Given the description of an element on the screen output the (x, y) to click on. 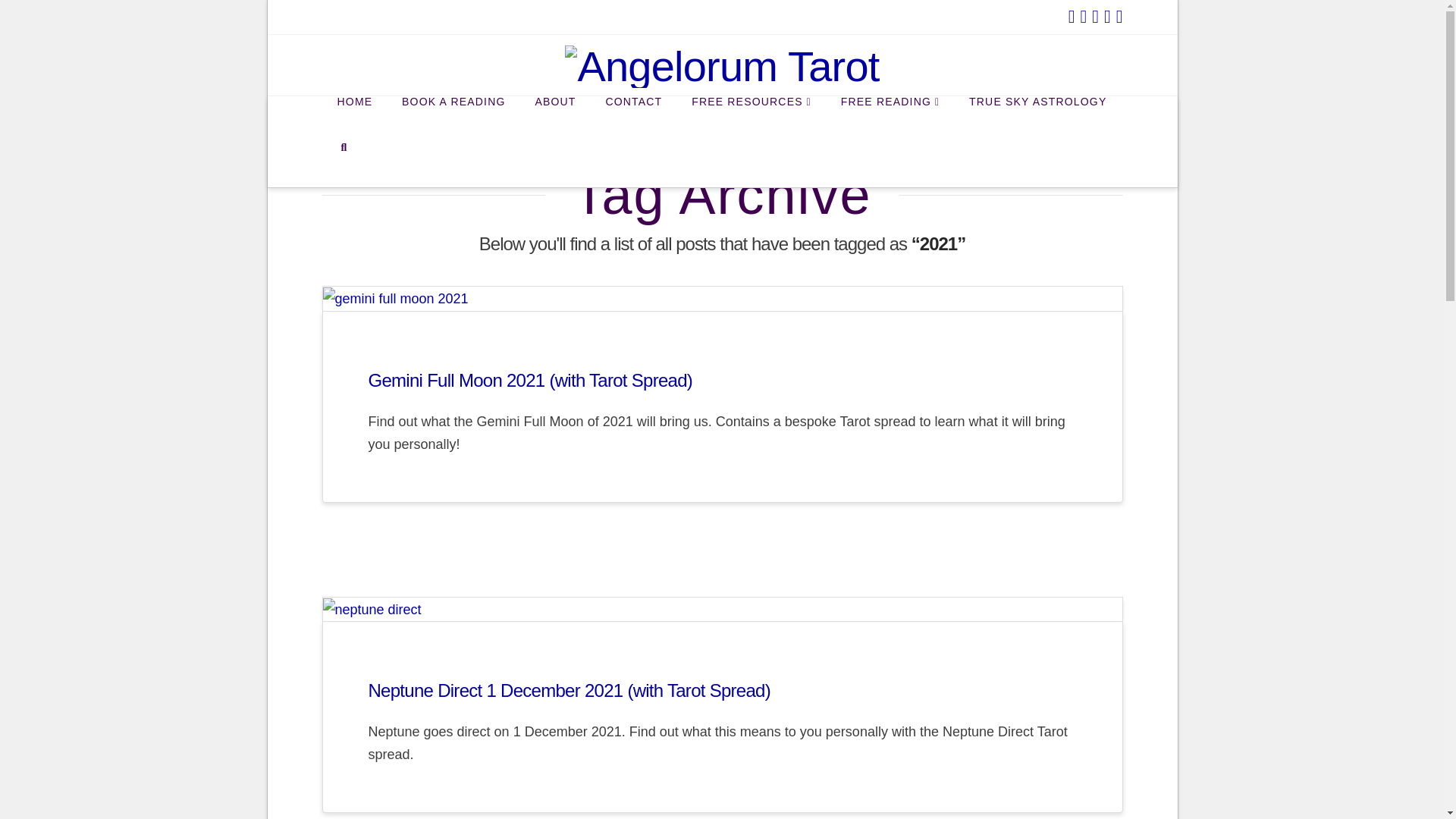
CONTACT (633, 118)
HOME (354, 118)
BOOK A READING (453, 118)
TRUE SKY ASTROLOGY (1037, 118)
FREE RESOURCES (751, 118)
ABOUT (554, 118)
FREE READING (889, 118)
